Given the description of an element on the screen output the (x, y) to click on. 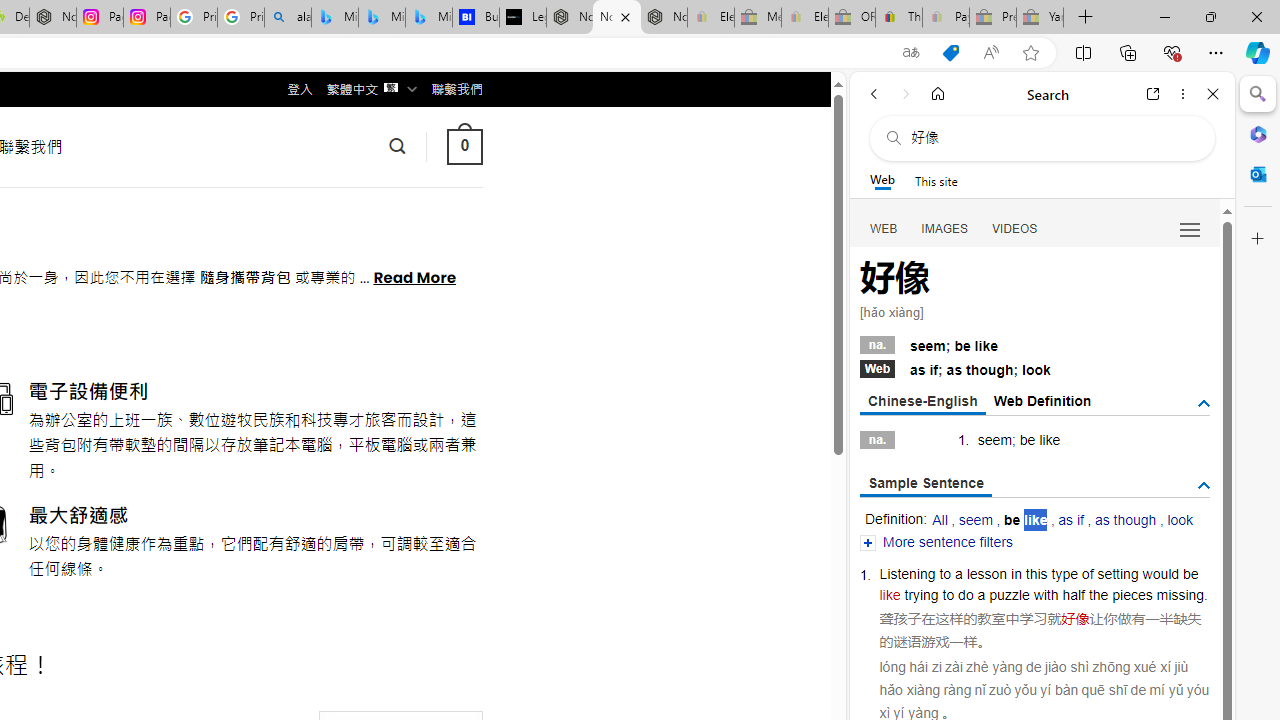
 0  (464, 146)
like (890, 594)
missing (1179, 594)
